Given the description of an element on the screen output the (x, y) to click on. 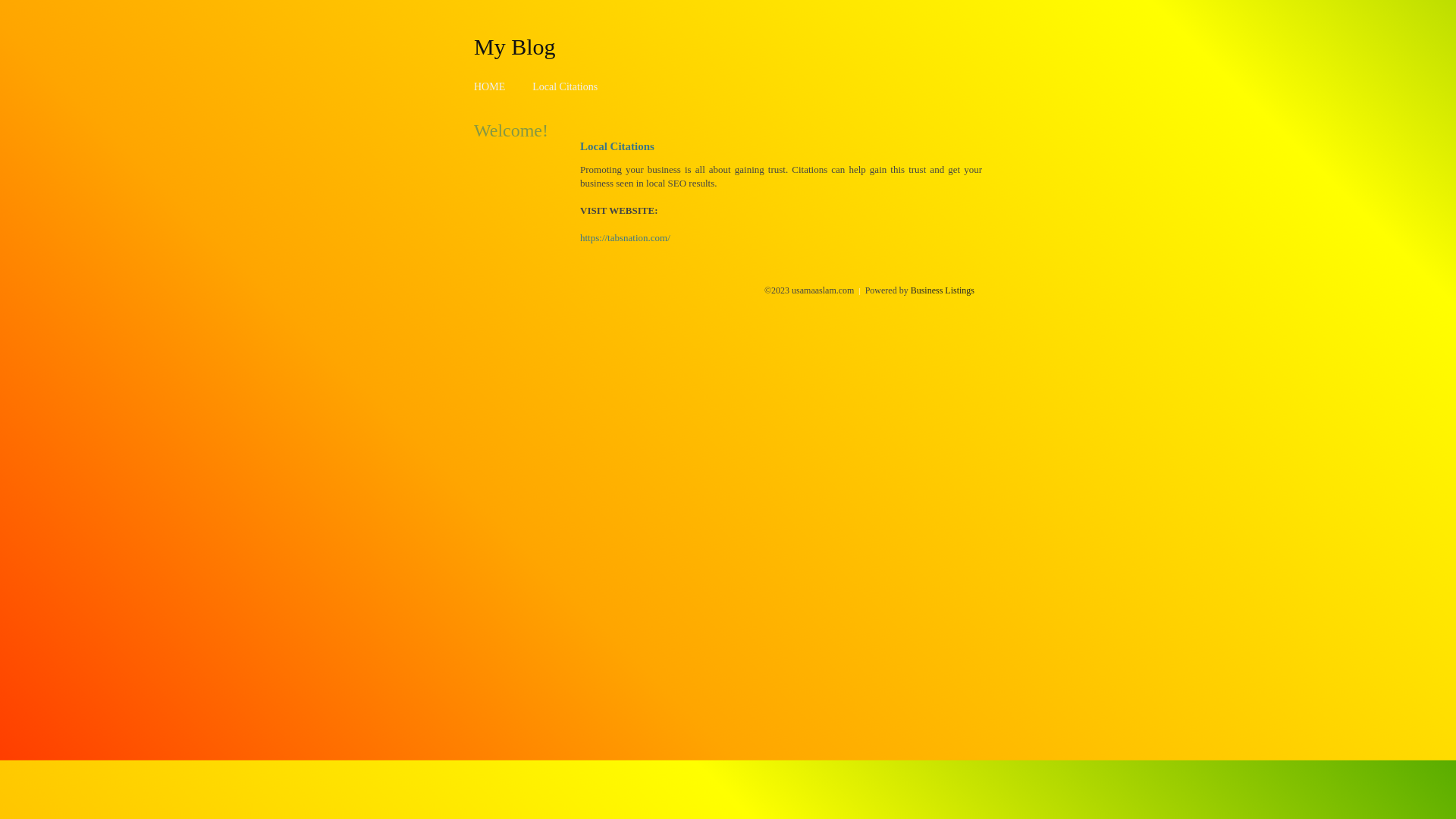
My Blog Element type: text (514, 46)
Business Listings Element type: text (942, 290)
Local Citations Element type: text (564, 86)
HOME Element type: text (489, 86)
https://tabsnation.com/ Element type: text (625, 237)
